Given the description of an element on the screen output the (x, y) to click on. 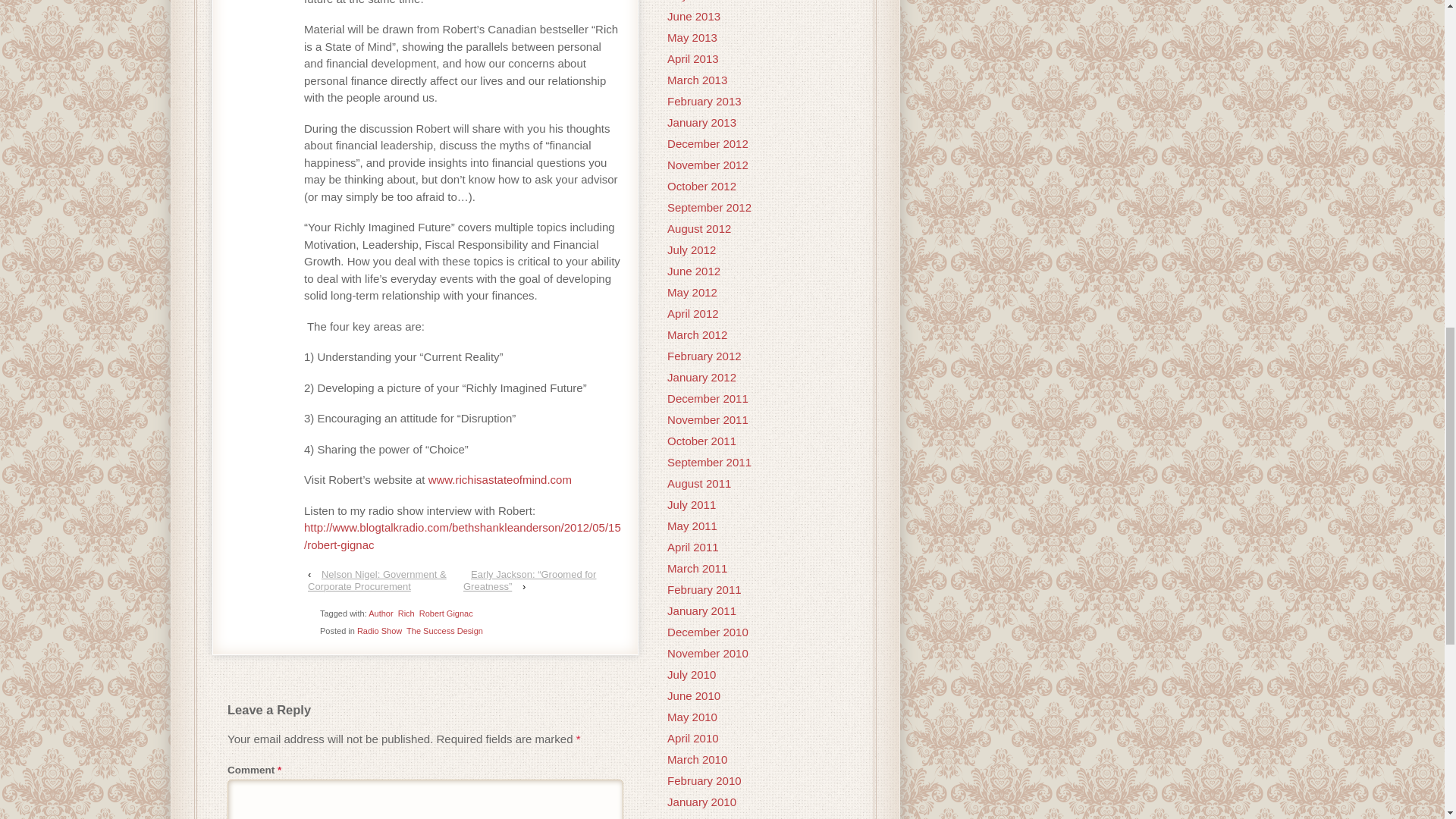
Author (380, 613)
Robert Gignac (446, 613)
The Success Design (444, 630)
Radio Show (378, 630)
www.richisastateofmind.com (500, 479)
Rich (405, 613)
